Given the description of an element on the screen output the (x, y) to click on. 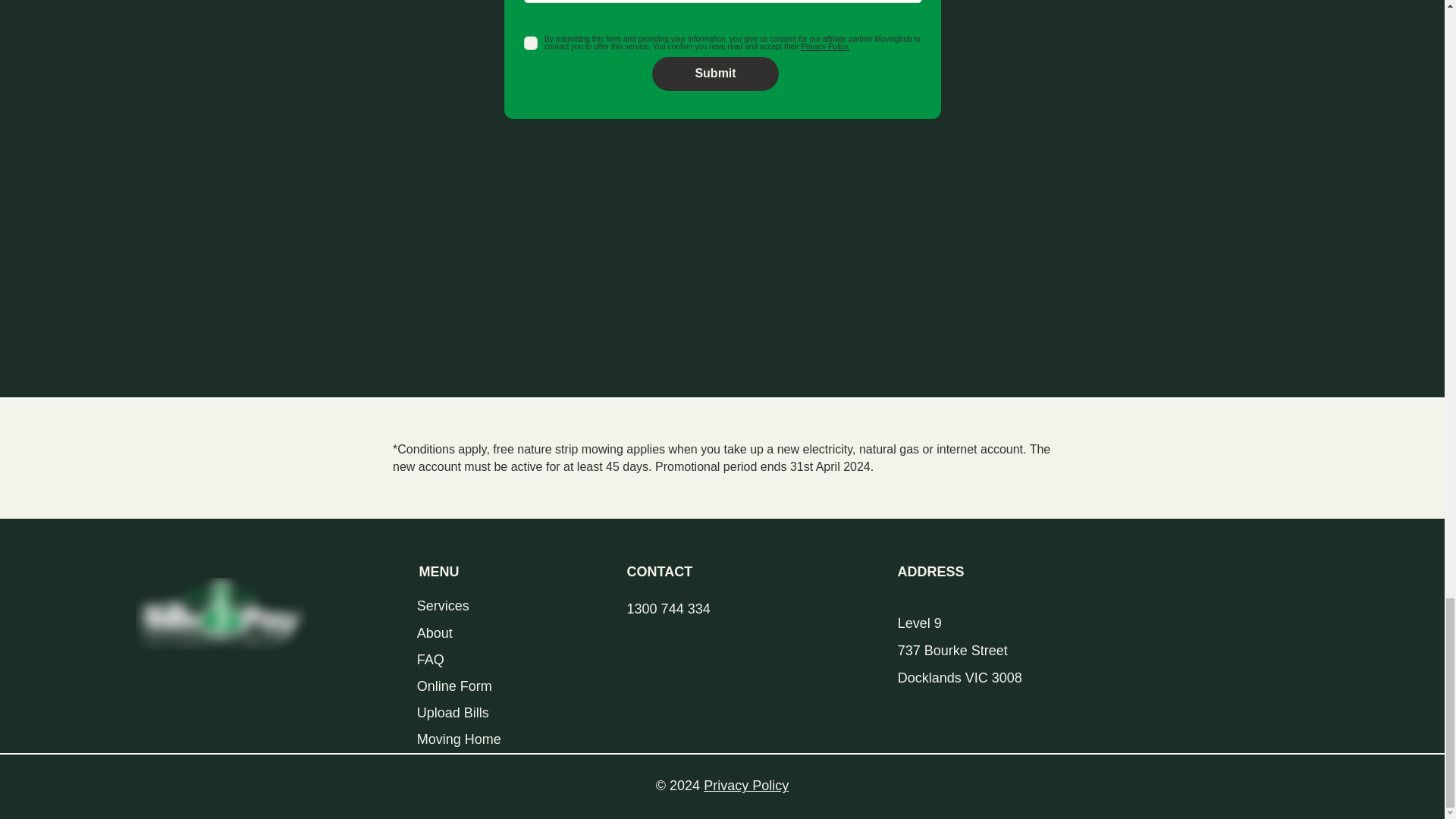
Online Form (497, 686)
Submit (715, 73)
Privacy Policy. (824, 46)
Moving Home (497, 739)
Services (497, 605)
About (497, 633)
Upload Bills (497, 713)
FAQ (497, 660)
Privacy Policy (746, 785)
